Given the description of an element on the screen output the (x, y) to click on. 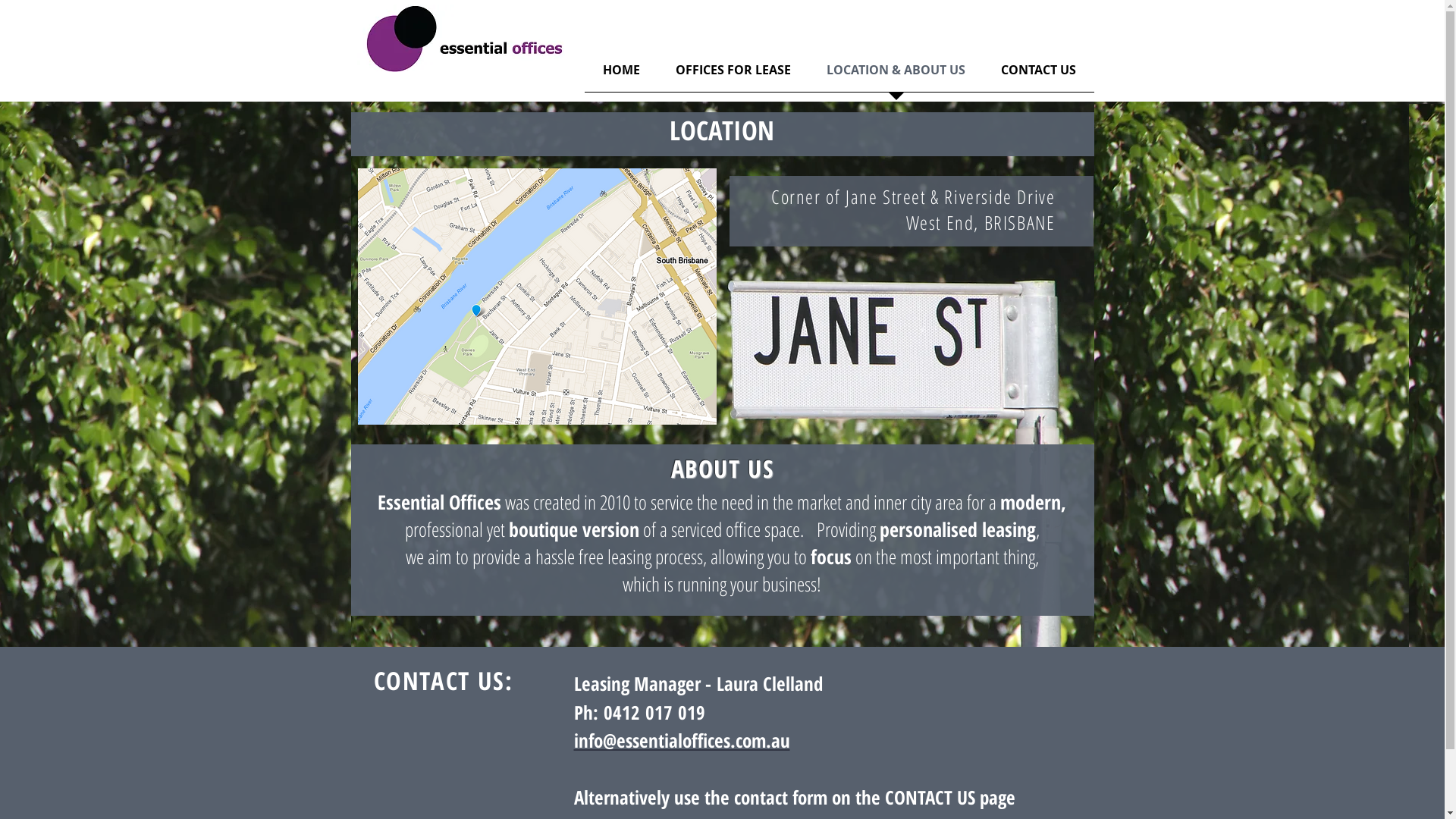
CONTACT US Element type: text (929, 796)
HOME Element type: text (620, 74)
OFFICES FOR LEASE Element type: text (733, 74)
Essential offices Logo.jpg Element type: hover (463, 38)
CONTACT US Element type: text (1037, 74)
LOCATION & ABOUT US Element type: text (895, 74)
info@essentialoffices.com.au Element type: text (681, 740)
